Given the description of an element on the screen output the (x, y) to click on. 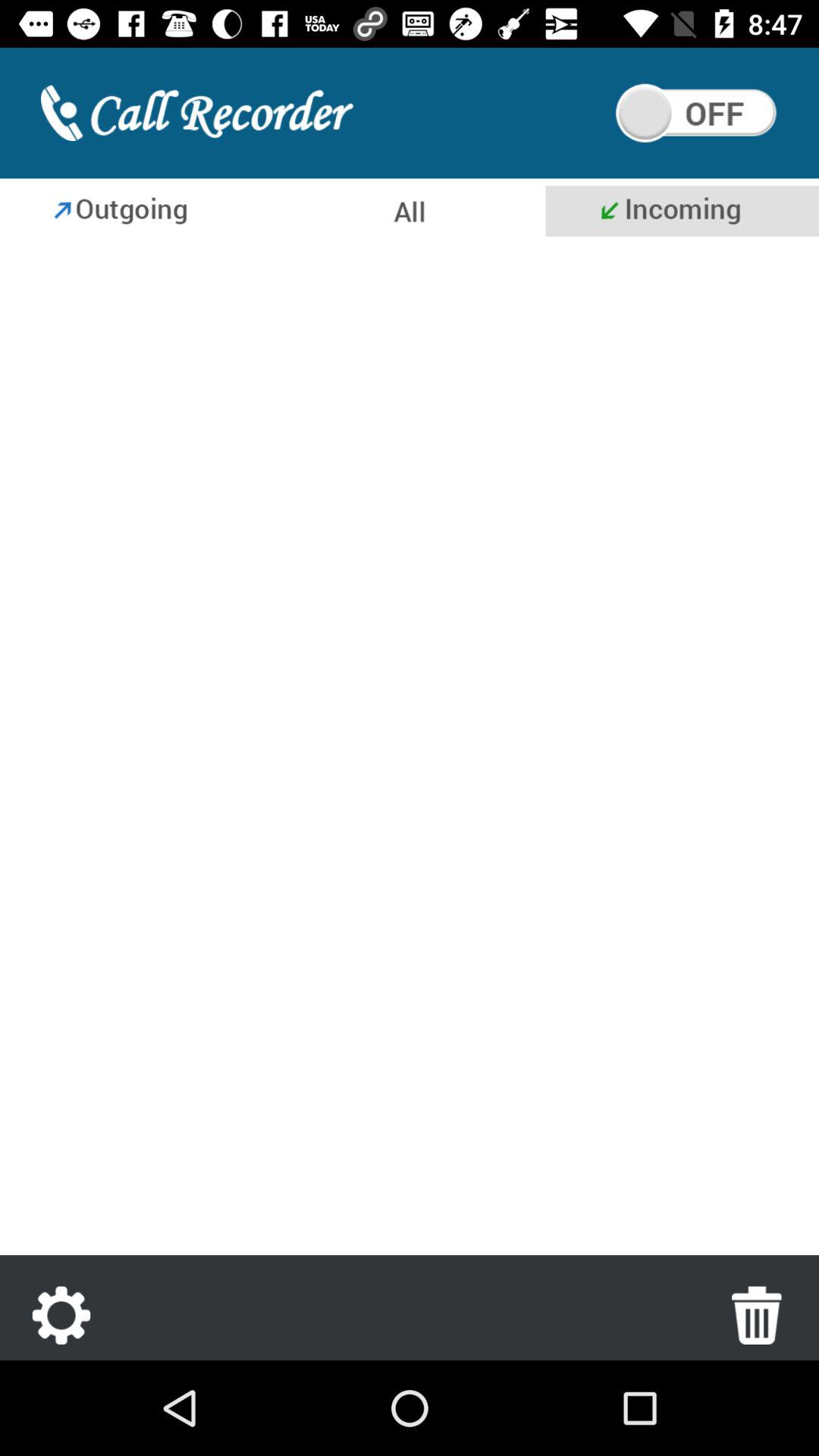
turn on icon at the bottom left corner (61, 1315)
